Given the description of an element on the screen output the (x, y) to click on. 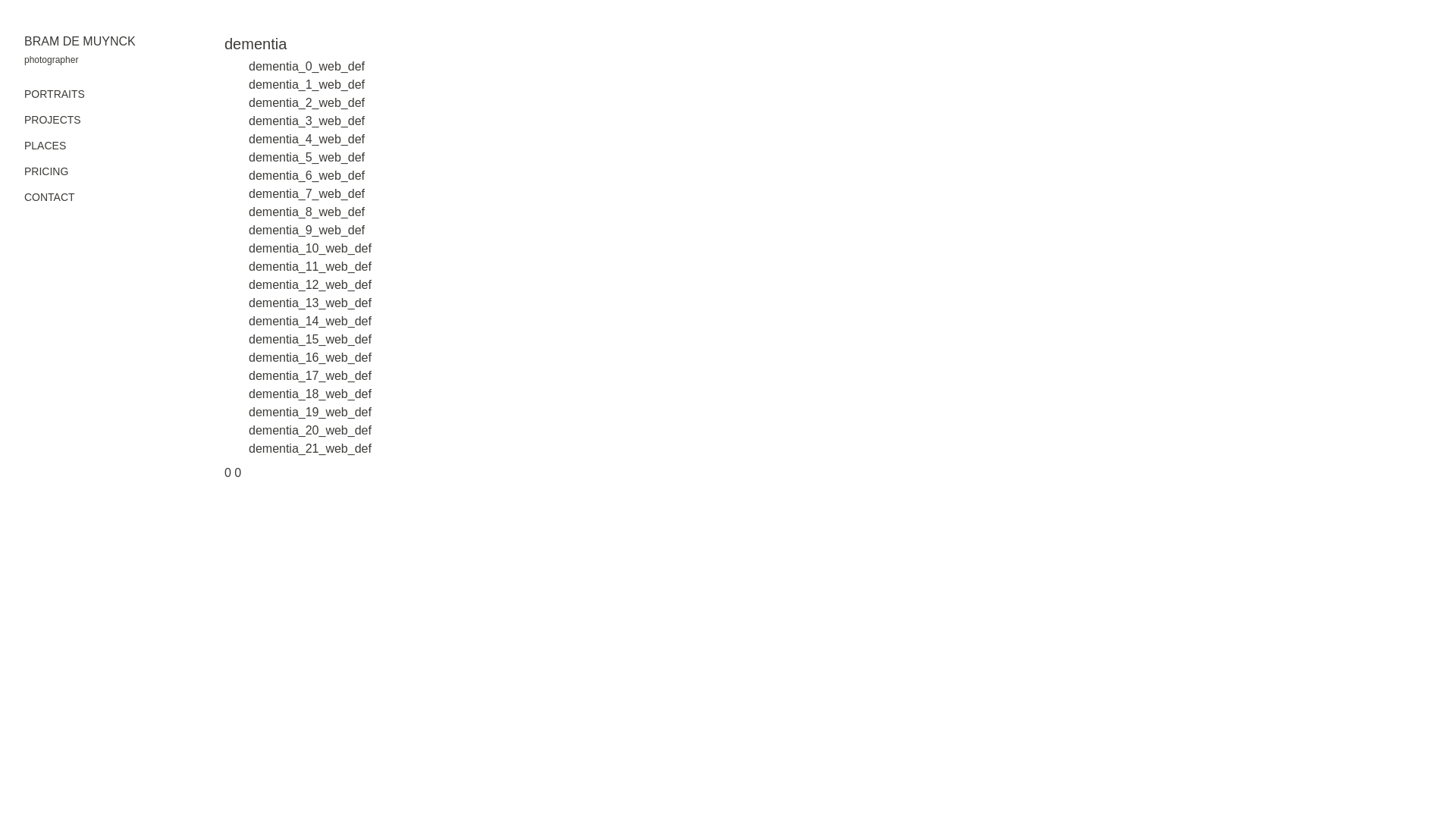
BRAM DE MUYNCK Element type: text (96, 41)
dementia_20_web_def Element type: text (309, 429)
dementia_8_web_def Element type: text (306, 211)
CONTACT Element type: text (49, 197)
dementia Element type: text (255, 43)
PROJECTS Element type: text (52, 119)
0 Element type: text (237, 472)
PRICING Element type: text (46, 171)
dementia_4_web_def Element type: text (306, 138)
dementia_13_web_def Element type: text (309, 302)
dementia_0_web_def Element type: text (306, 65)
dementia_19_web_def Element type: text (309, 411)
dementia_14_web_def Element type: text (309, 320)
0 Element type: text (227, 472)
dementia_16_web_def Element type: text (309, 357)
PLACES Element type: text (44, 145)
dementia_18_web_def Element type: text (309, 393)
dementia_9_web_def Element type: text (306, 229)
dementia_10_web_def Element type: text (309, 247)
dementia_12_web_def Element type: text (309, 284)
dementia_17_web_def Element type: text (309, 375)
dementia_11_web_def Element type: text (309, 266)
dementia_21_web_def Element type: text (309, 448)
dementia_7_web_def Element type: text (306, 193)
dementia_2_web_def Element type: text (306, 102)
dementia_3_web_def Element type: text (306, 120)
PORTRAITS Element type: text (54, 93)
dementia_6_web_def Element type: text (306, 175)
dementia_1_web_def Element type: text (306, 84)
dementia_15_web_def Element type: text (309, 338)
dementia_5_web_def Element type: text (306, 156)
